Given the description of an element on the screen output the (x, y) to click on. 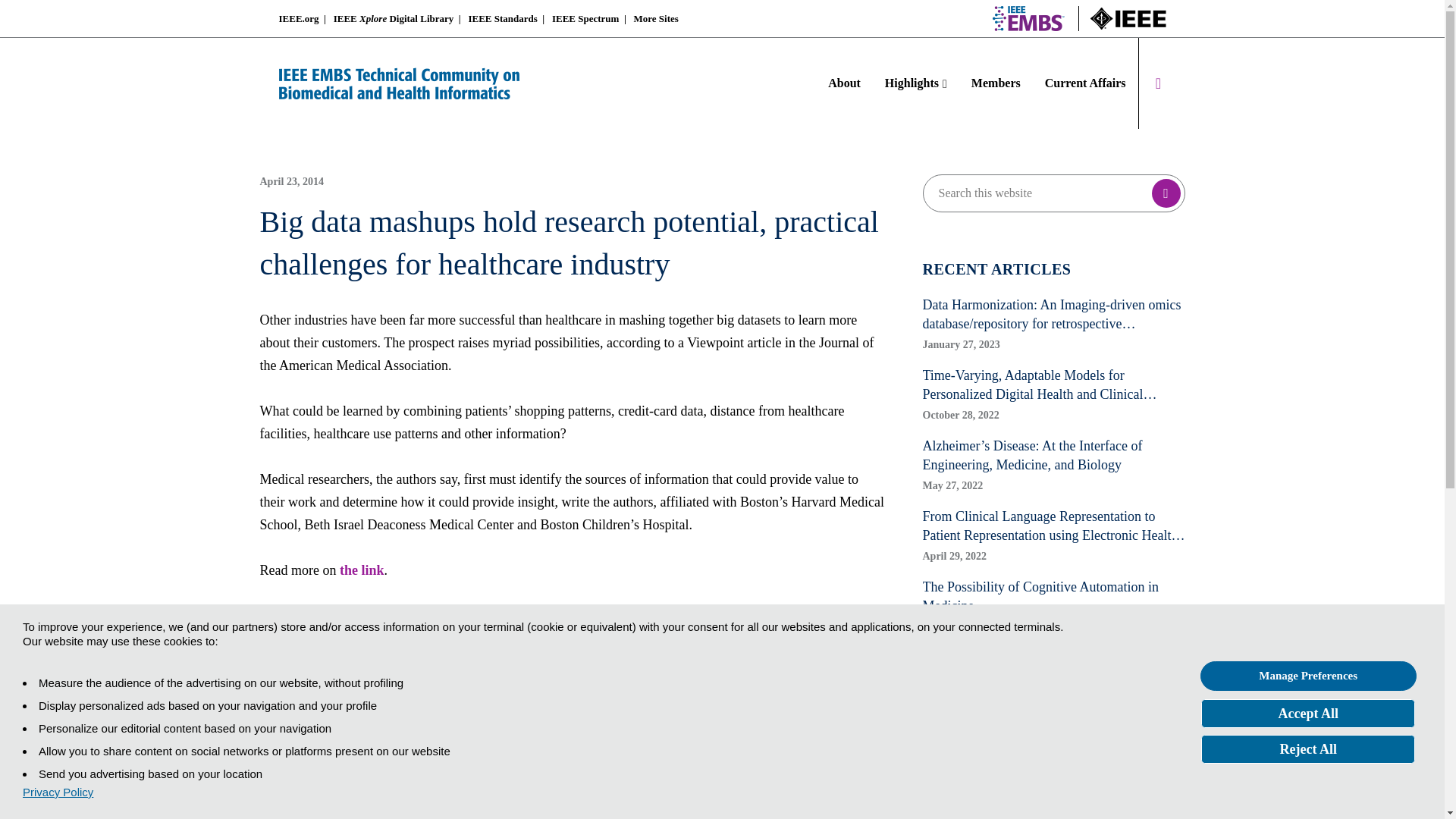
Current Affairs (1078, 82)
Accept All (1308, 713)
Privacy Policy (58, 792)
Highlights (915, 82)
the link (361, 570)
Members (995, 82)
embs.org (1028, 18)
IEEE.org (298, 18)
About (850, 82)
IEEE.org (1128, 18)
IEEE Xplore Digital Library (393, 18)
The Possibility of Cognitive Automation in Medicine (1053, 596)
IEEE Spectrum (584, 18)
